Given the description of an element on the screen output the (x, y) to click on. 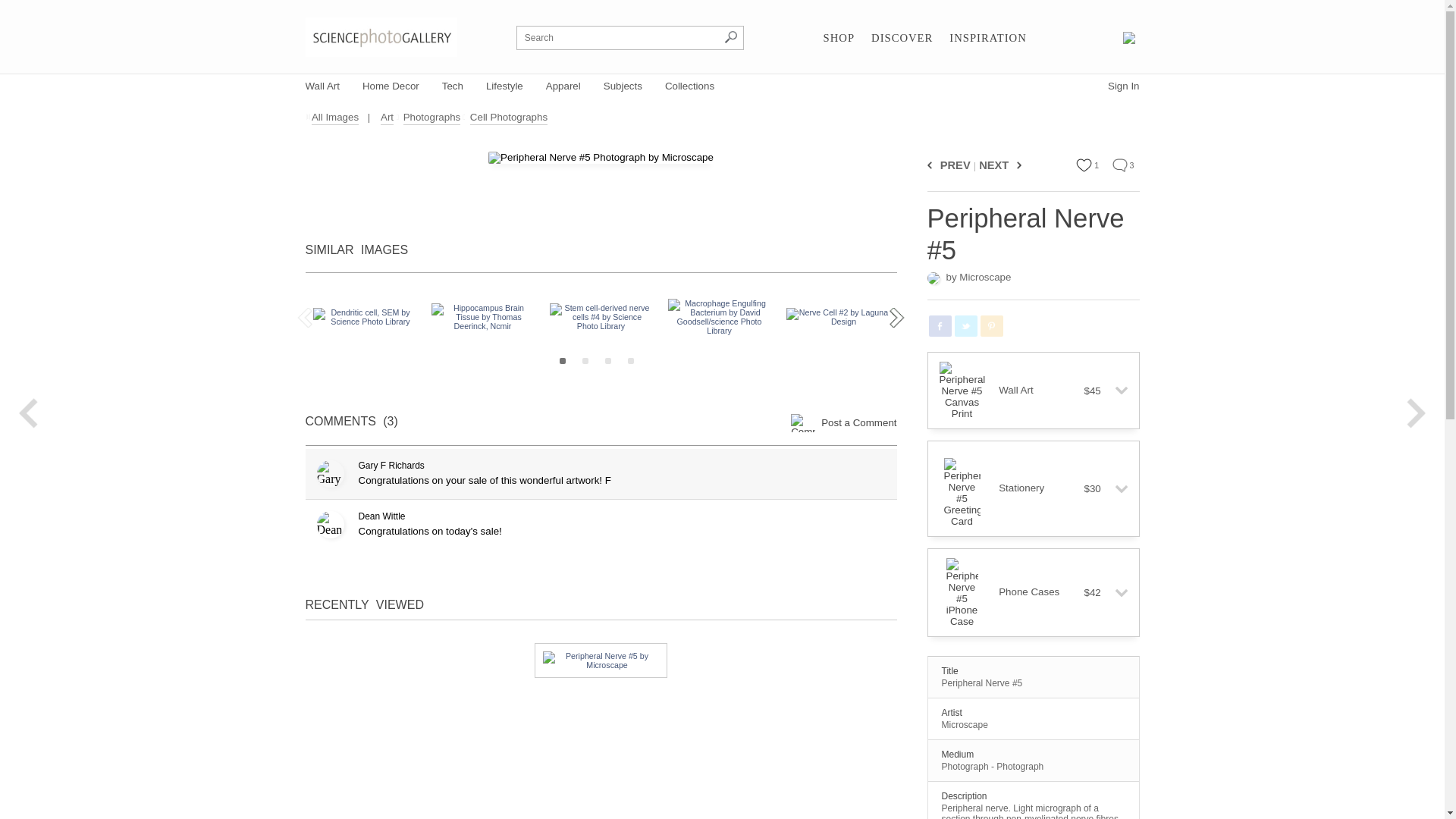
Expand Product (1114, 389)
Share Product on Twitter (964, 325)
Share Product on Facebook (939, 325)
Comment (1119, 164)
Share Product on Pinterest (991, 325)
SHOP (838, 37)
Next Image (1016, 164)
INSPIRATION (987, 37)
Favorite (1083, 164)
DISCOVER (901, 37)
Previous Image (931, 164)
Science Photo Gallery - Buy Art Online (380, 36)
